Given the description of an element on the screen output the (x, y) to click on. 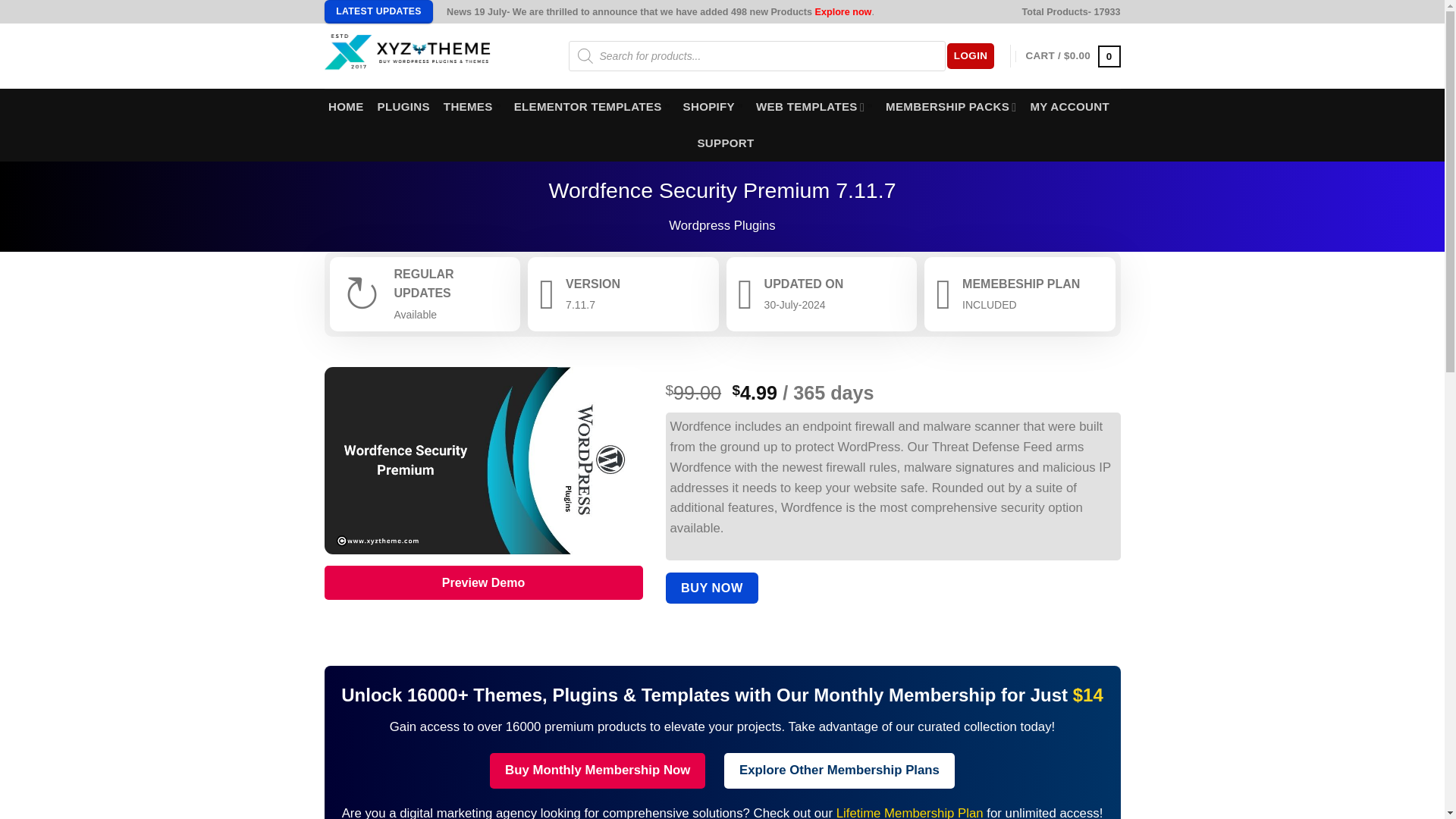
ELEMENTOR TEMPLATES (591, 106)
XYZTheme - GPL Themes and Plugins (435, 55)
Cart (1073, 56)
THEMES (472, 106)
Explore now (843, 11)
LATEST UPDATES (378, 11)
MEMBERSHIP PACKS (950, 106)
HOME (346, 106)
BUY NOW (711, 587)
LOGIN (970, 55)
Preview Demo (483, 582)
Login (970, 55)
SUPPORT (725, 143)
MY ACCOUNT (1069, 106)
Wordpress Plugins (722, 225)
